Given the description of an element on the screen output the (x, y) to click on. 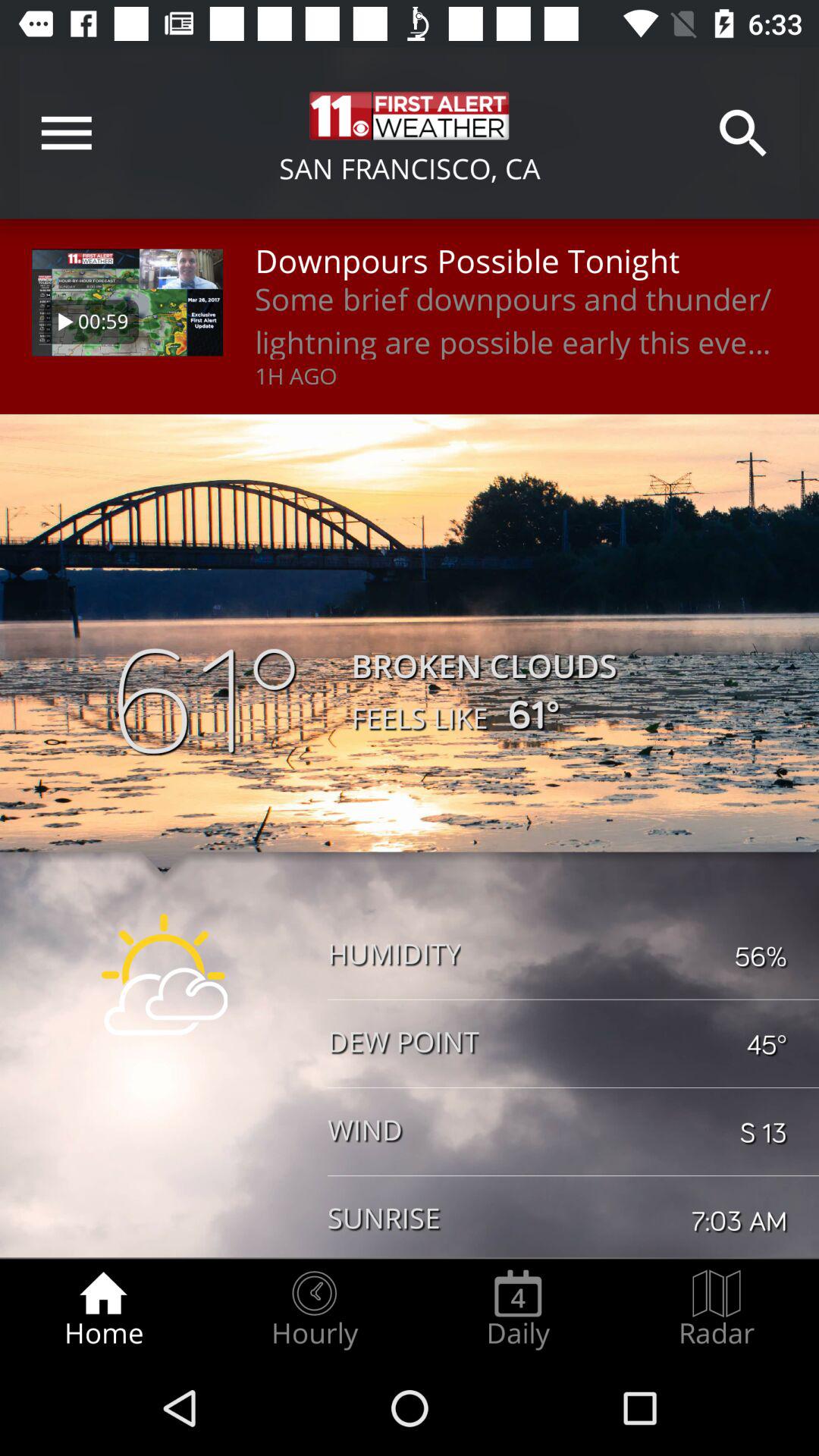
open daily icon (518, 1309)
